Given the description of an element on the screen output the (x, y) to click on. 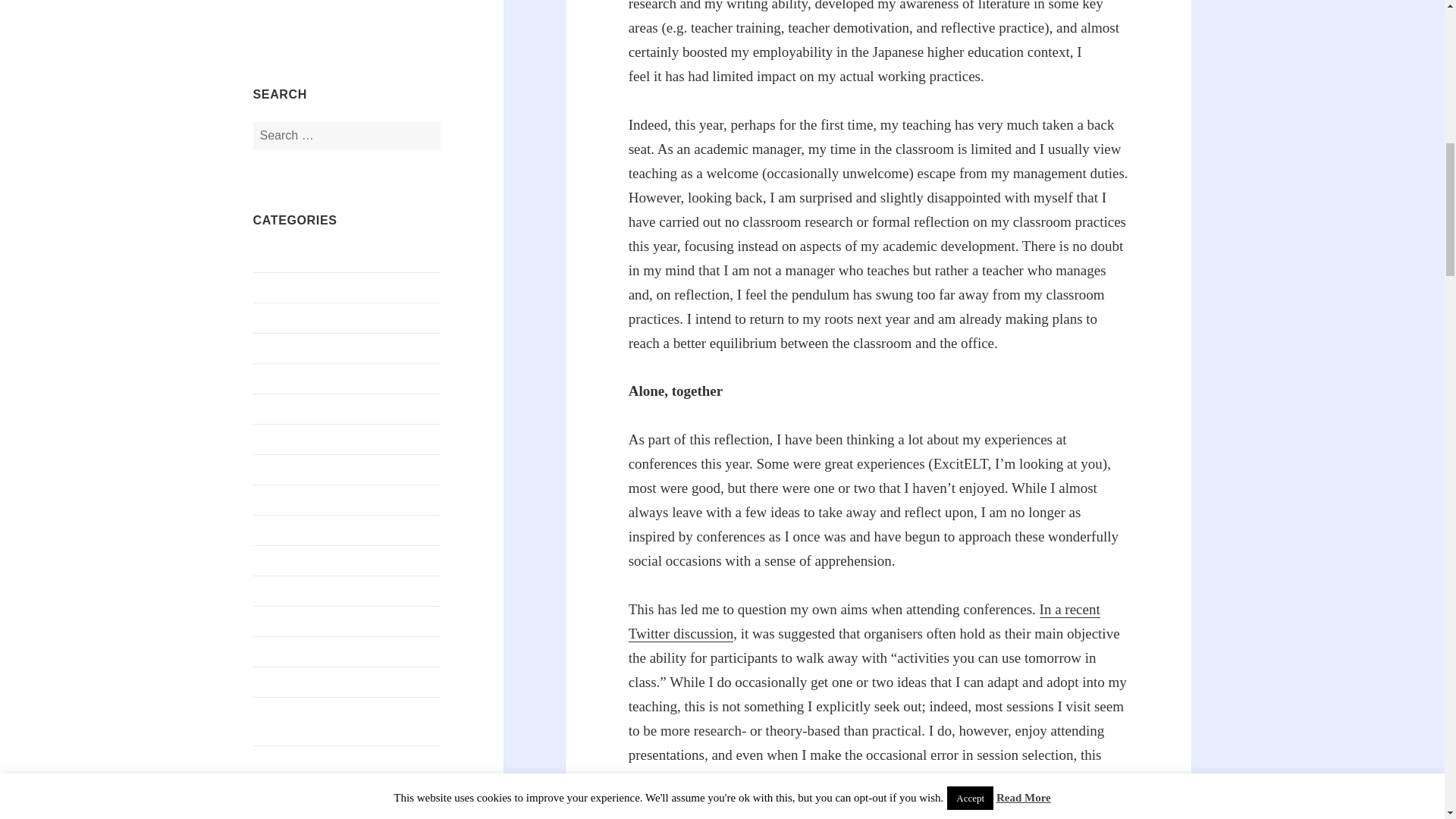
Connections and Influences (320, 816)
Fixing your biggest work from home problems in 2021 (342, 9)
13 for 2014 (281, 256)
Challenges Ideas Solutions (318, 529)
Better Teacher (288, 408)
Collaboration (286, 759)
Community Activists (304, 789)
Breaking Rules (291, 468)
Classrooms Correction and Critical Thinking (339, 720)
Changes and challenges 2015 (325, 620)
Classroom Management (312, 680)
Challenges Project Opportunities (333, 590)
